Given the description of an element on the screen output the (x, y) to click on. 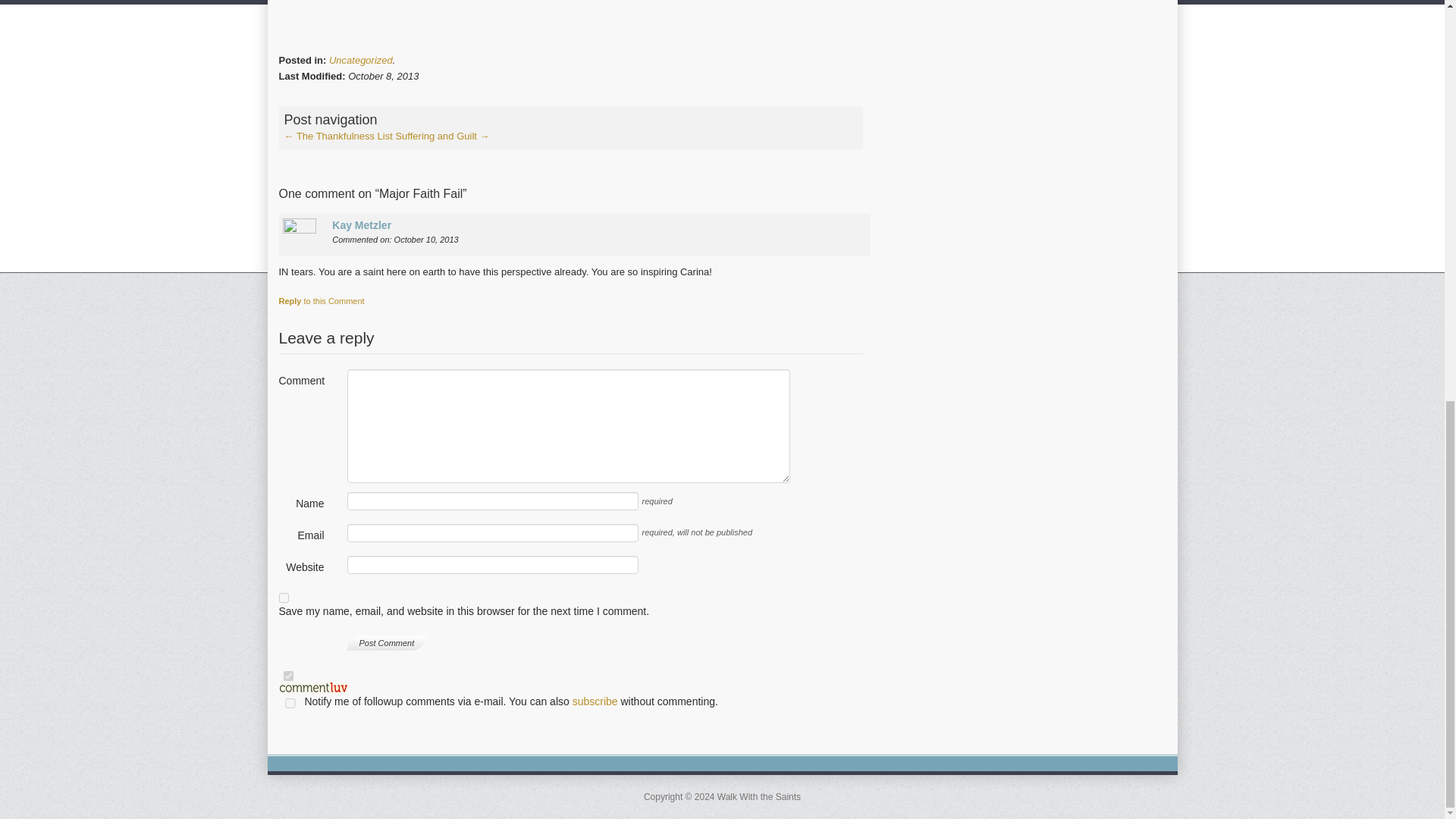
on (288, 675)
yes (283, 597)
Reply to this Comment (322, 300)
Post Comment (386, 642)
Uncategorized (361, 60)
yes (290, 703)
CommentLuv is enabled (571, 694)
Post Comment (386, 642)
subscribe (594, 701)
